Given the description of an element on the screen output the (x, y) to click on. 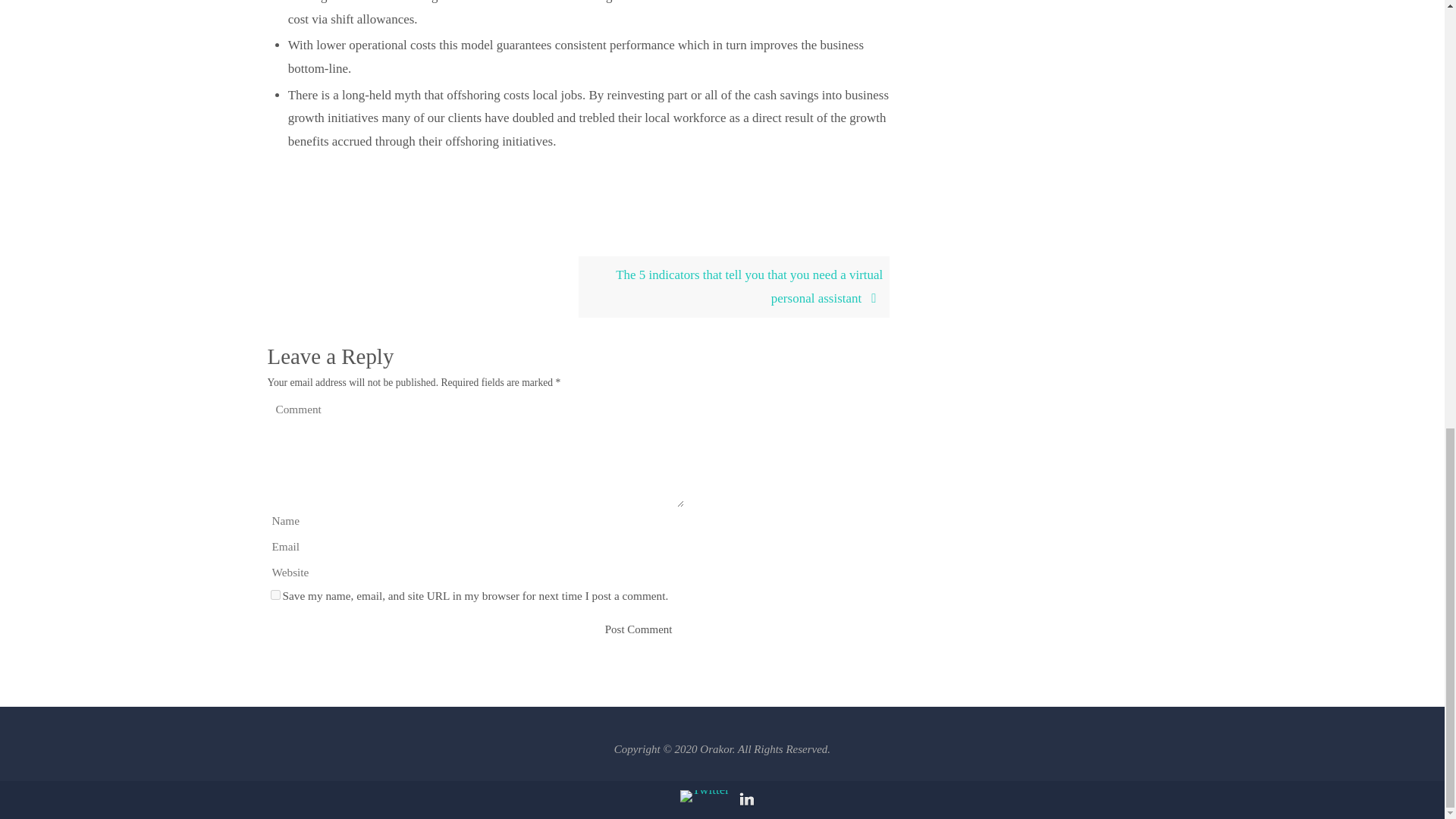
yes (274, 594)
Post Comment (638, 629)
Twitter (704, 796)
LinkedIn (746, 799)
Post Comment (638, 629)
